Given the description of an element on the screen output the (x, y) to click on. 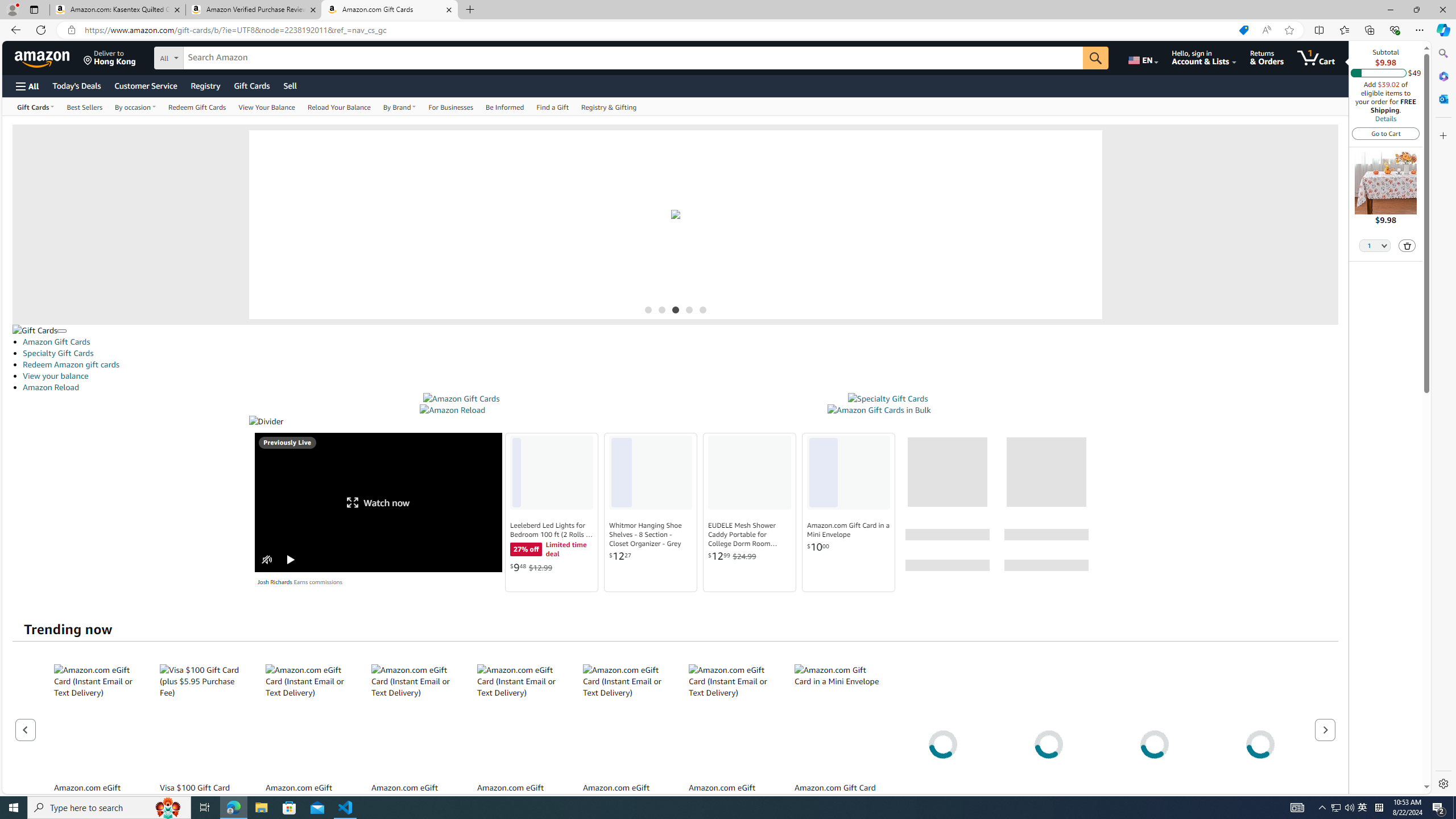
Redeem Gift Cards (196, 106)
Hello, sign in Account & Lists (1203, 57)
Amazon Gift Cards (460, 398)
Amazon Verified Purchase Reviews - Amazon Customer Service (253, 9)
Best Sellers (84, 106)
Details (1385, 118)
